Given the description of an element on the screen output the (x, y) to click on. 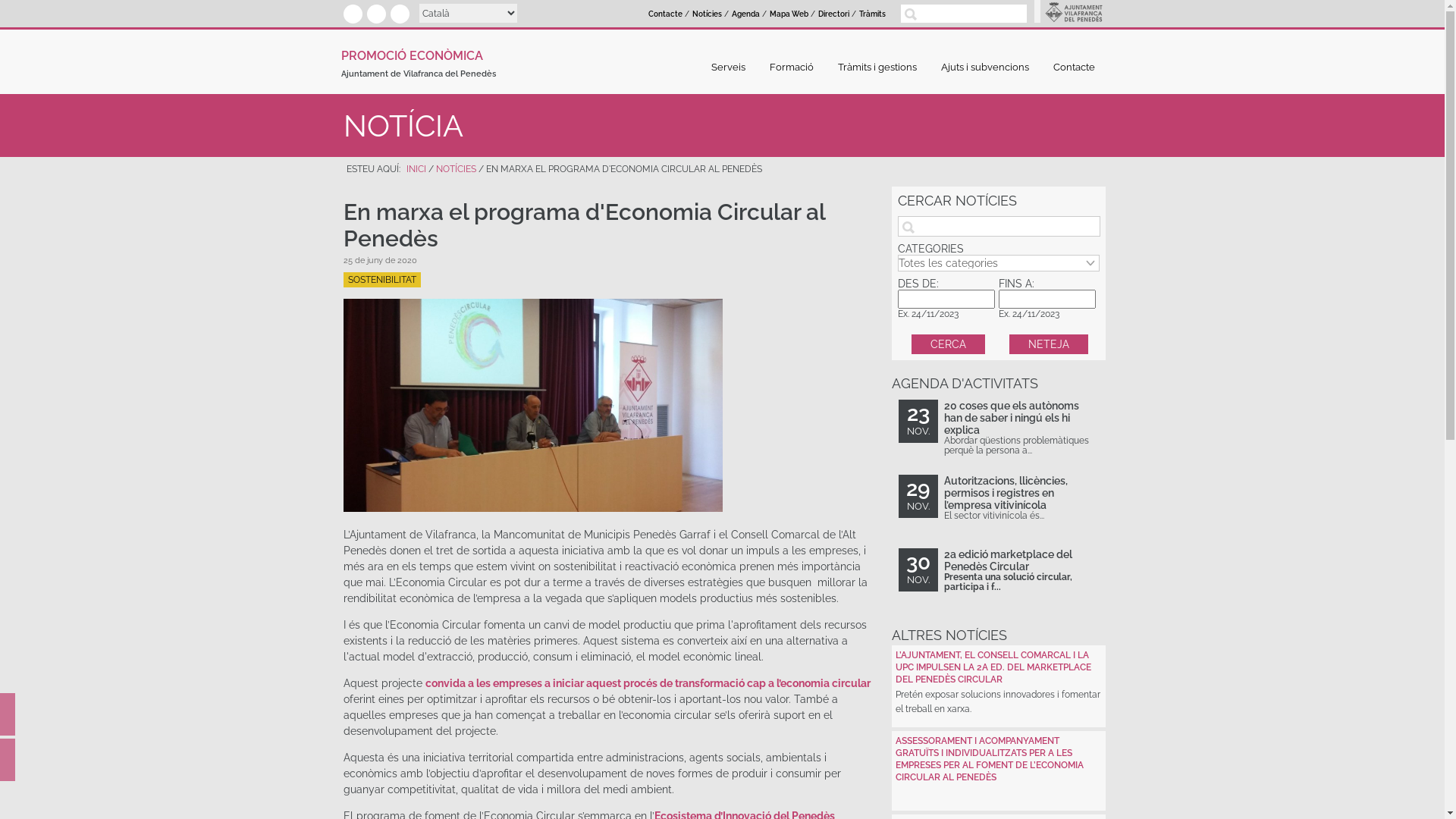
Contacte Element type: text (1073, 66)
Neteja Element type: text (1048, 344)
Contacte Element type: text (665, 14)
Ajuts i subvencions Element type: text (988, 66)
Directori Element type: text (833, 14)
Agenda Element type: text (745, 14)
INICI Element type: text (416, 168)
Mapa Web Element type: text (788, 14)
Serveis Element type: text (731, 66)
Cerca Element type: text (948, 344)
SOSTENIBILITAT Element type: text (381, 279)
Accessibilitat Element type: hover (7, 718)
